Given the description of an element on the screen output the (x, y) to click on. 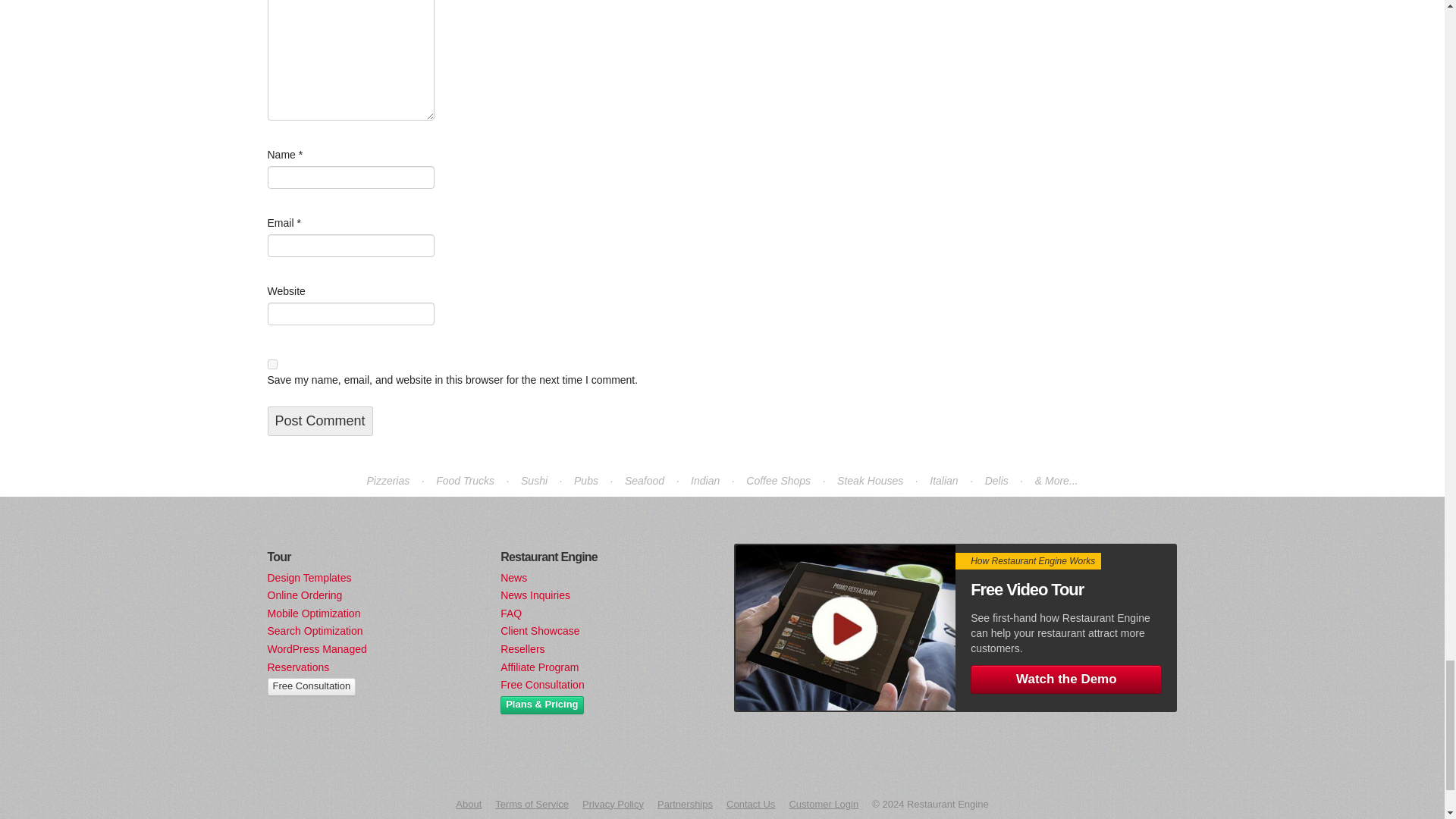
Online Ordering (304, 594)
News Inquiries (535, 594)
News Inquiries (535, 594)
Blog (513, 577)
Post Comment (319, 420)
Get a Free Consultation (310, 687)
Mobile Optimization (312, 613)
Online Ordering (304, 594)
News (513, 577)
Reservations (297, 666)
WordPress Managed (316, 648)
Client Showcase (539, 630)
Design Templates (308, 577)
Search Optimization (314, 630)
Mobile Optimization (312, 613)
